Given the description of an element on the screen output the (x, y) to click on. 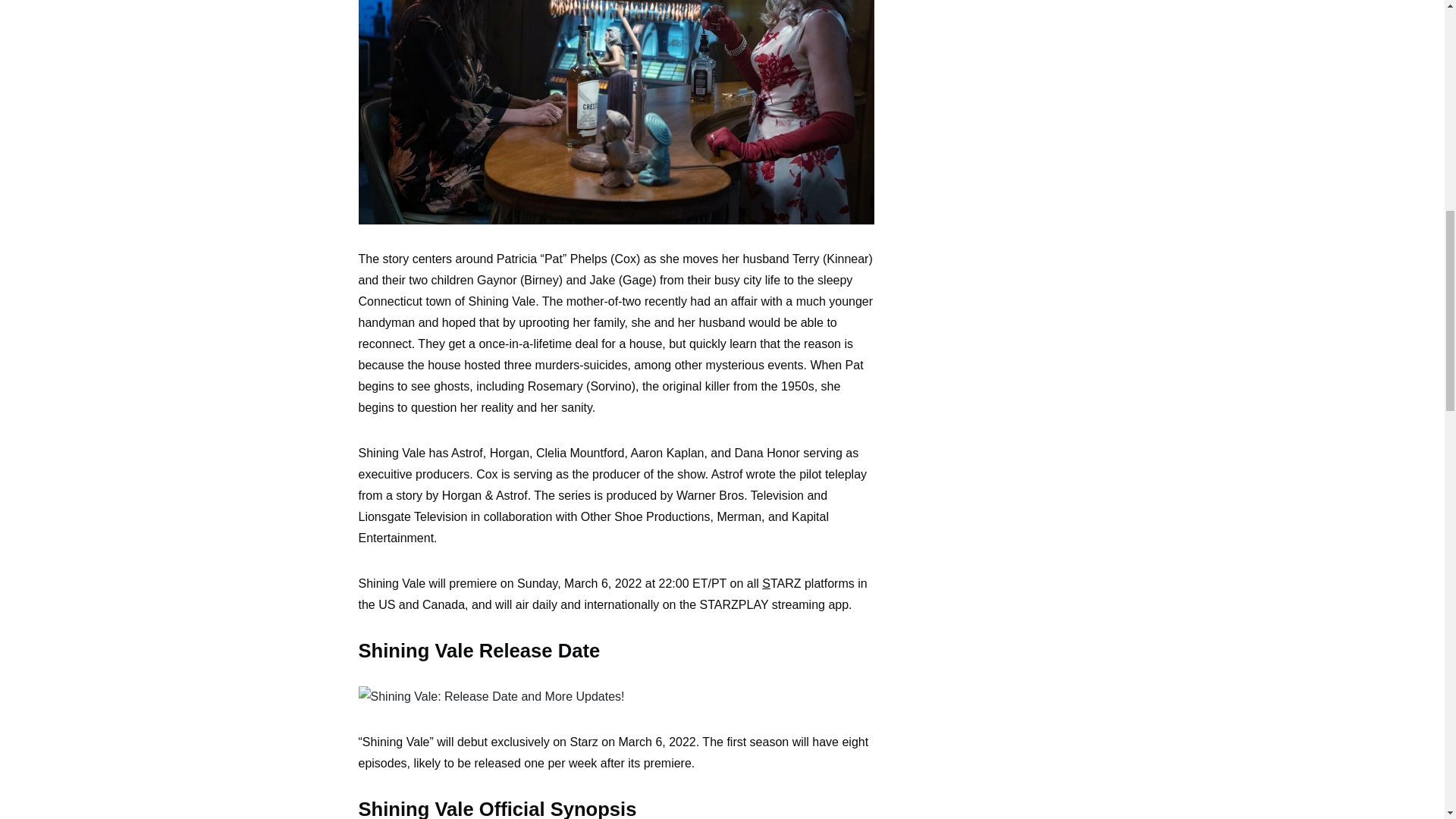
Shining Vale: Release Date and More Updates! (615, 112)
Shining Vale: Release Date and More Updates! (491, 696)
